Given the description of an element on the screen output the (x, y) to click on. 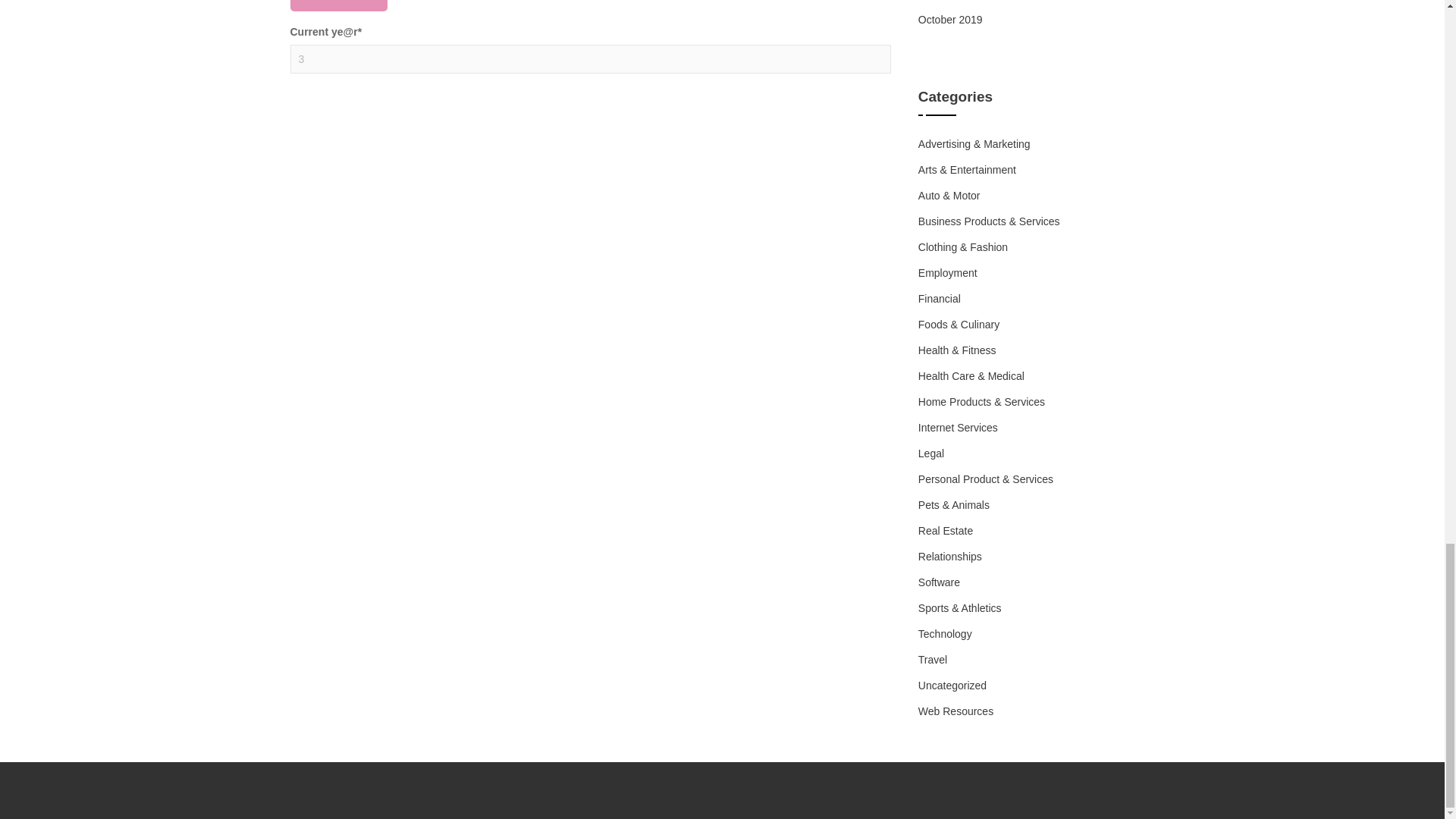
Add Comment (338, 5)
3 (589, 59)
Add Comment (338, 5)
